Given the description of an element on the screen output the (x, y) to click on. 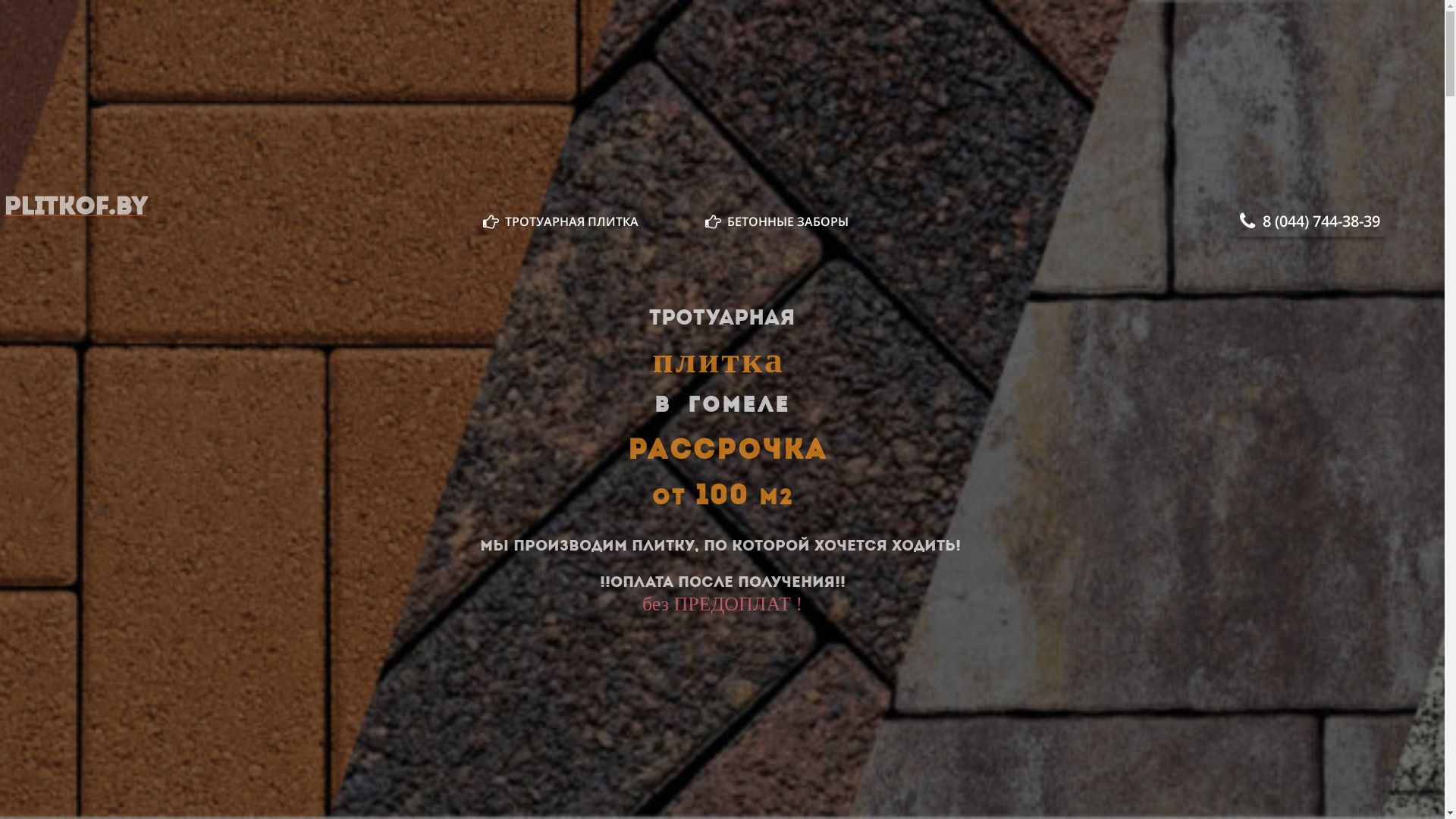
8 (044) 744-38-39 Element type: text (1309, 221)
PLITKOF.BY Element type: text (75, 211)
